Given the description of an element on the screen output the (x, y) to click on. 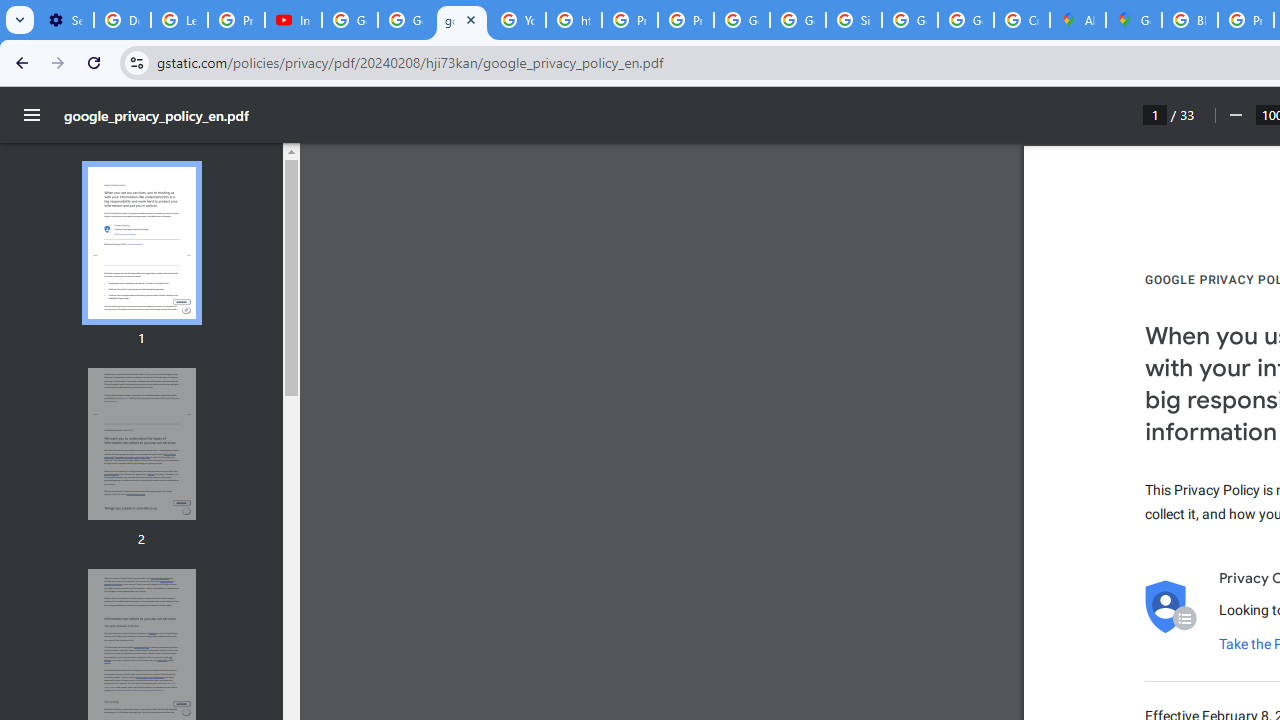
Blogger Policies and Guidelines - Transparency Center (1190, 20)
Settings - Customize profile (65, 20)
YouTube (518, 20)
Menu (31, 115)
AutomationID: thumbnail (141, 443)
Create your Google Account (1021, 20)
Sign in - Google Accounts (853, 20)
Google Account Help (349, 20)
Thumbnail for page 2 (141, 444)
